Given the description of an element on the screen output the (x, y) to click on. 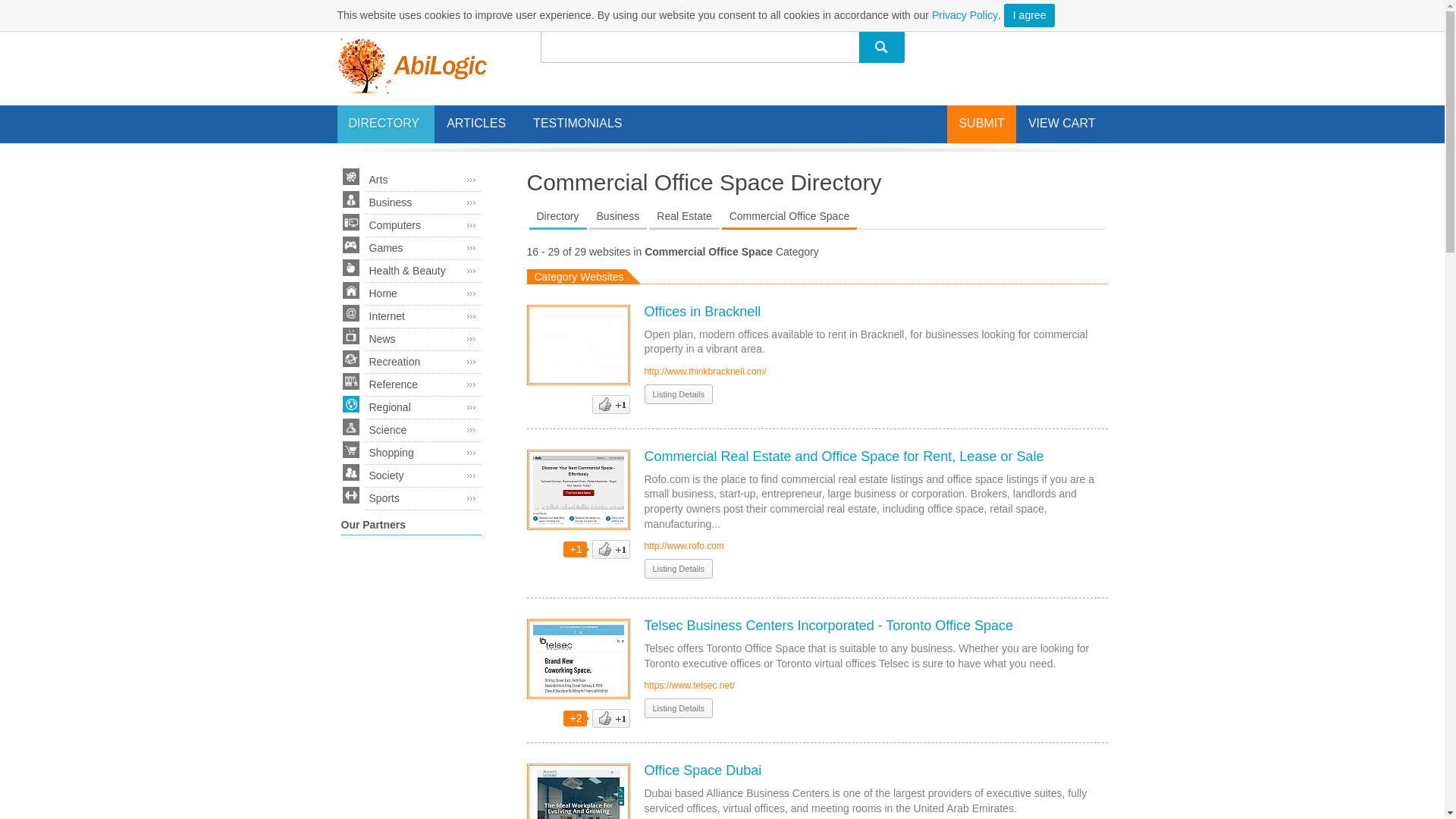
Add your website to the "Commercial Office Space" category (980, 123)
Reference (422, 384)
ARTICLES (478, 123)
Shopping cart (1061, 123)
Games (422, 248)
SUBMIT (980, 123)
Computers (422, 225)
Internet (422, 316)
News (422, 339)
TESTIMONIALS (577, 123)
Recreation (422, 362)
VIEW CART (1061, 123)
DIRECTORY (384, 123)
Home (422, 293)
Arts (422, 179)
